Given the description of an element on the screen output the (x, y) to click on. 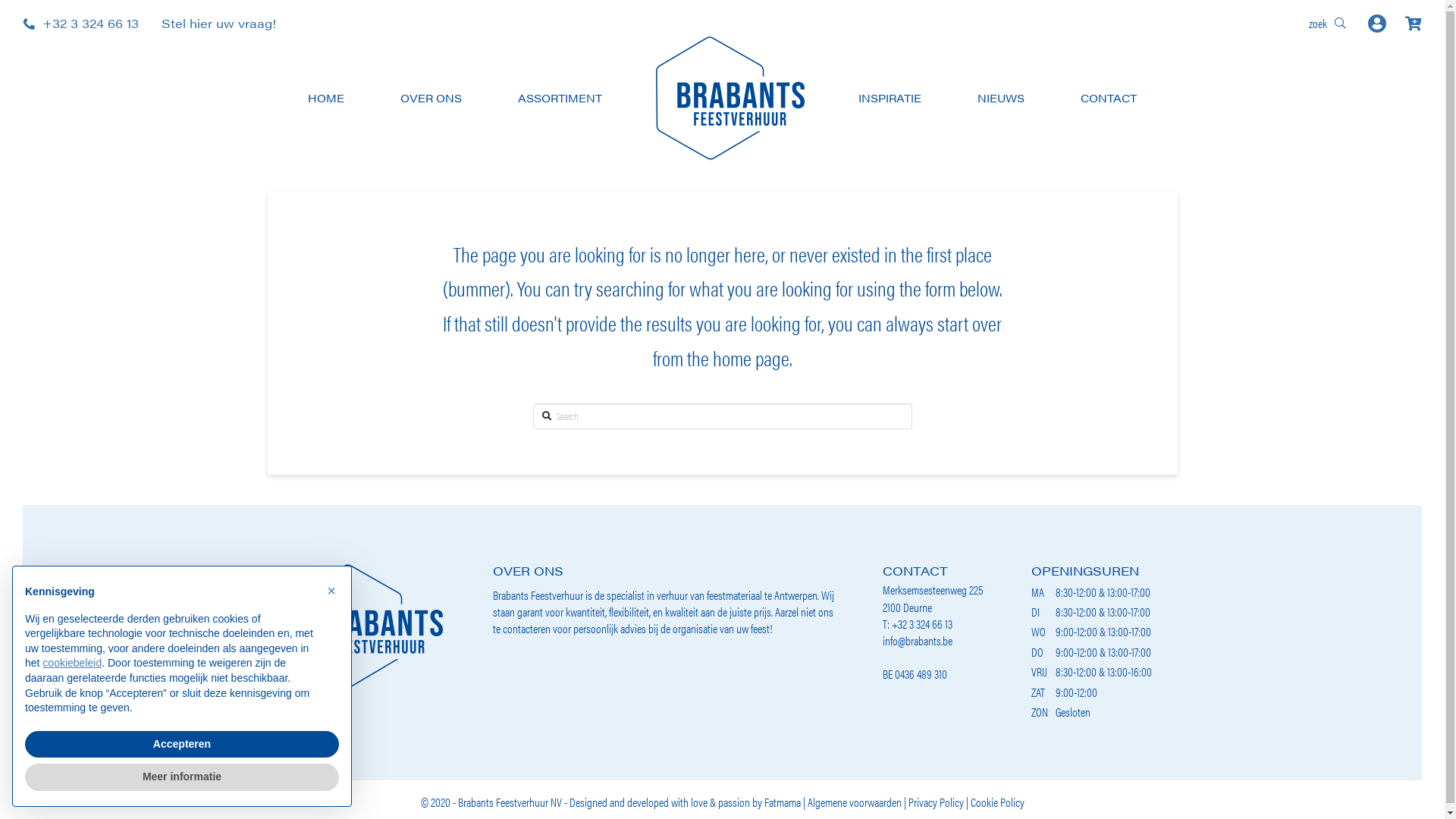
+32 3 324 66 13 Element type: text (80, 23)
CONTACT Element type: text (1108, 97)
Fatmama Element type: text (782, 801)
OVER ONS Element type: text (430, 97)
HOME Element type: text (326, 97)
Meer informatie Element type: text (181, 776)
cookiebeleid Element type: text (71, 662)
info@brabants.be Element type: text (917, 640)
INSPIRATIE Element type: text (889, 97)
Cookie Policy Element type: text (997, 801)
Stel hier uw vraag! Element type: text (214, 23)
Privacy Policy Element type: text (935, 801)
Accepteren Element type: text (181, 744)
ASSORTIMENT Element type: text (559, 97)
zoek Element type: text (1327, 23)
NIEUWS Element type: text (1000, 97)
+32 3 324 66 13 Element type: text (921, 623)
Algemene voorwaarden Element type: text (853, 801)
